Given the description of an element on the screen output the (x, y) to click on. 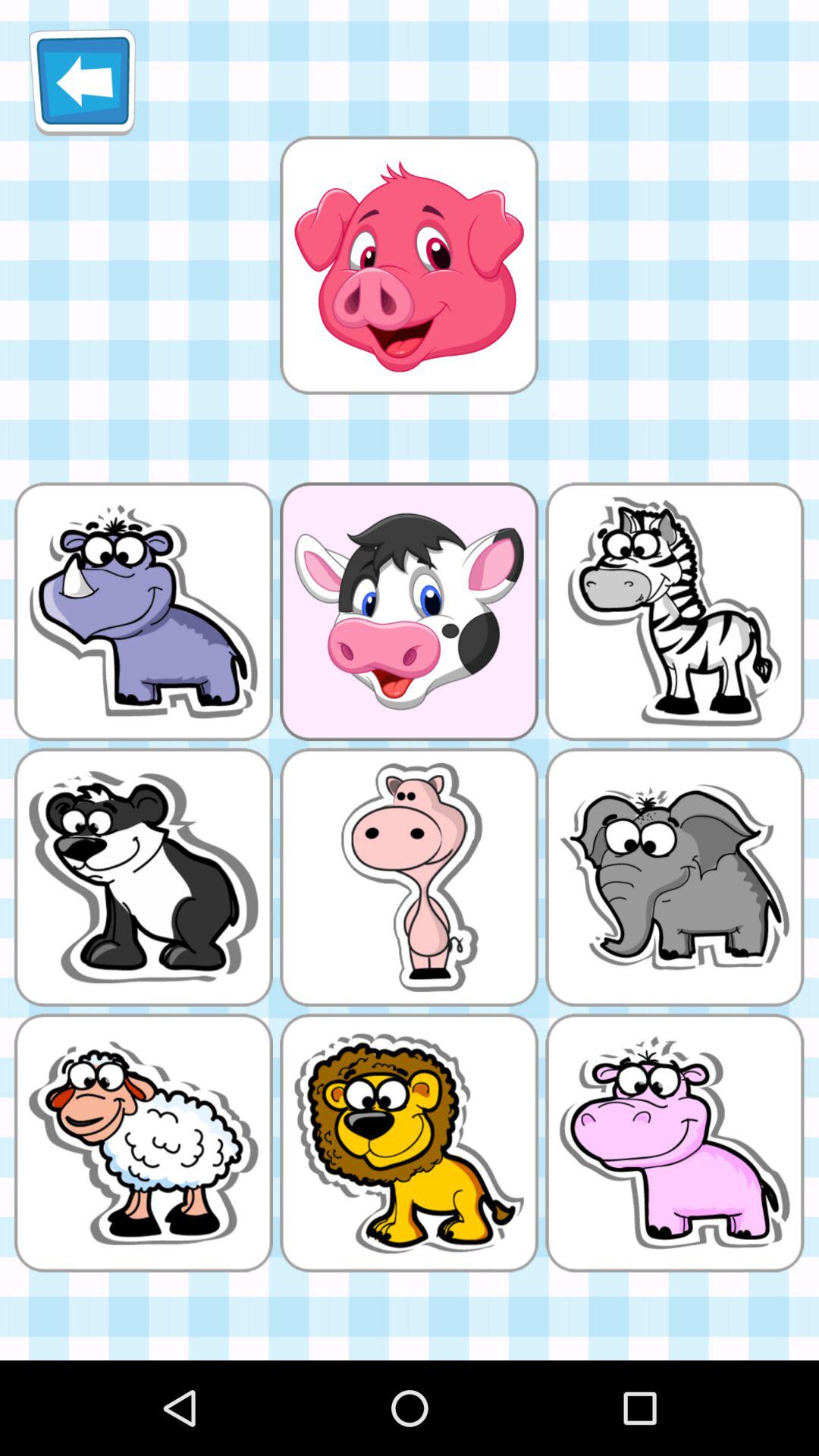
changes avatar/character (409, 264)
